Given the description of an element on the screen output the (x, y) to click on. 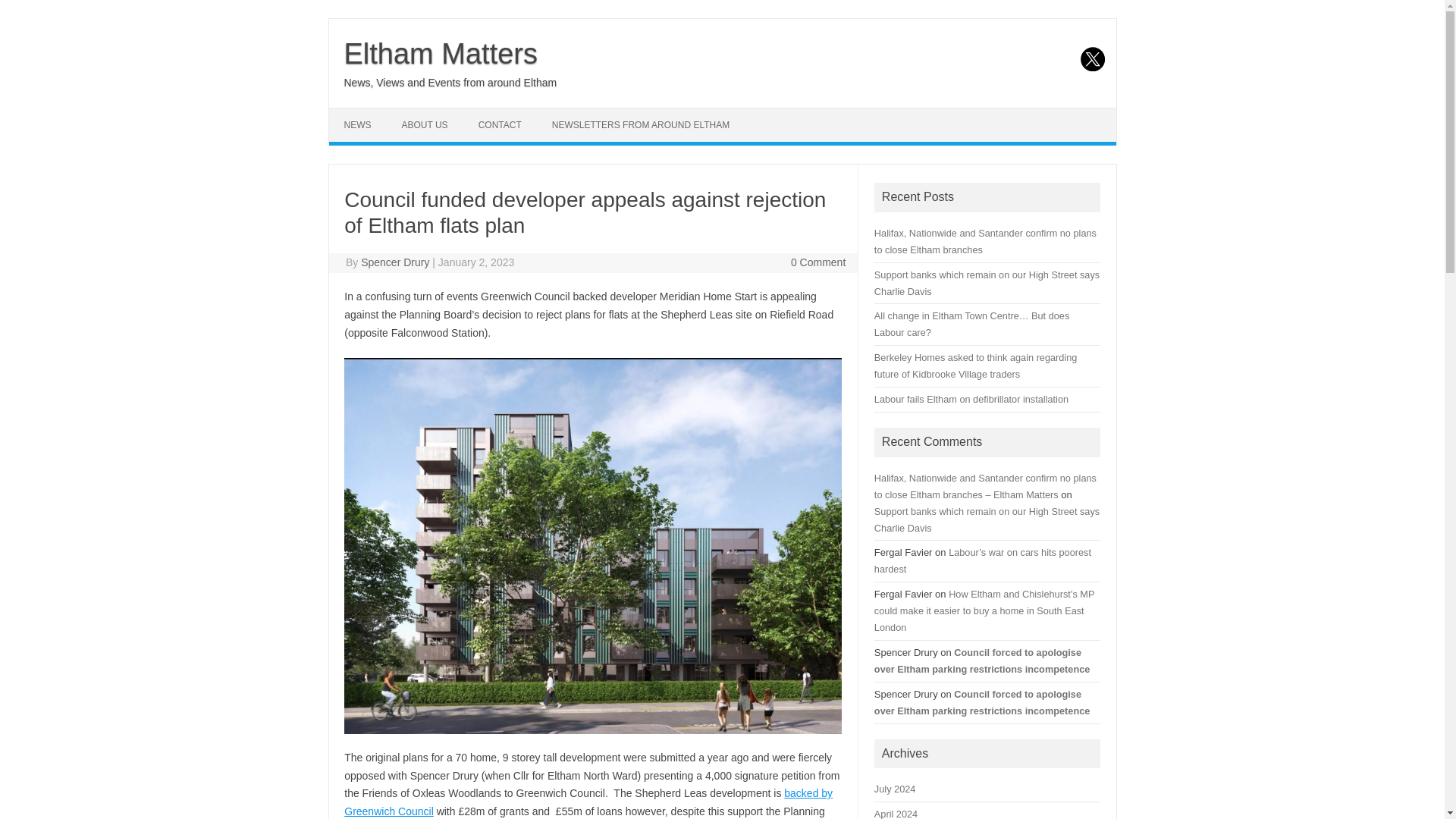
July 2024 (895, 788)
NEWSLETTERS FROM AROUND ELTHAM (640, 124)
Labour fails Eltham on defibrillator installation (971, 398)
April 2024 (896, 813)
backed by Greenwich Council (587, 802)
News, Views and Events from around Eltham (450, 82)
